Given the description of an element on the screen output the (x, y) to click on. 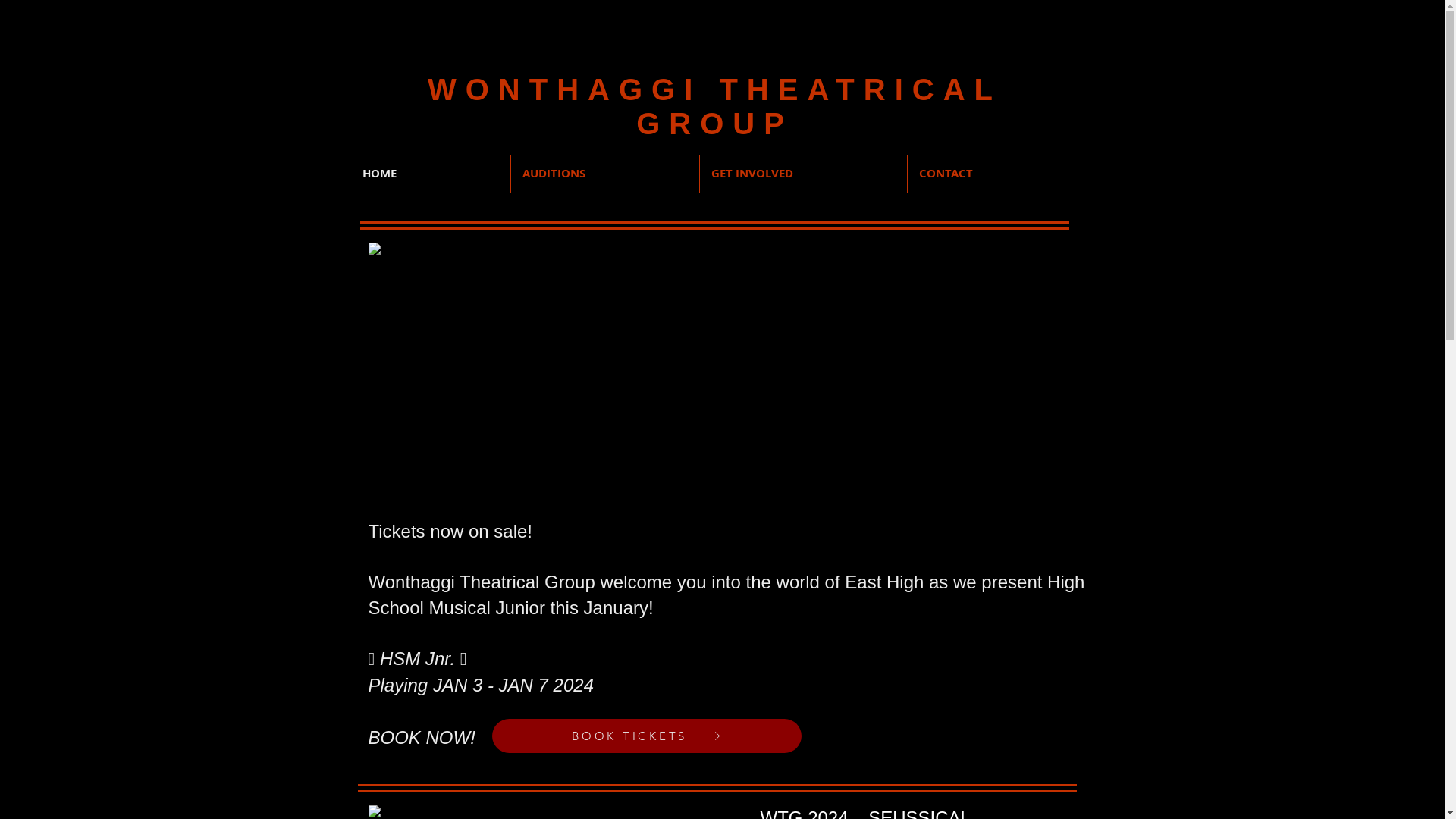
HOME Element type: text (429, 173)
AUDITIONS Element type: text (605, 173)
GET INVOLVED Element type: text (802, 173)
CONTACT Element type: text (995, 173)
BOOK TICKETS Element type: text (645, 735)
